Given the description of an element on the screen output the (x, y) to click on. 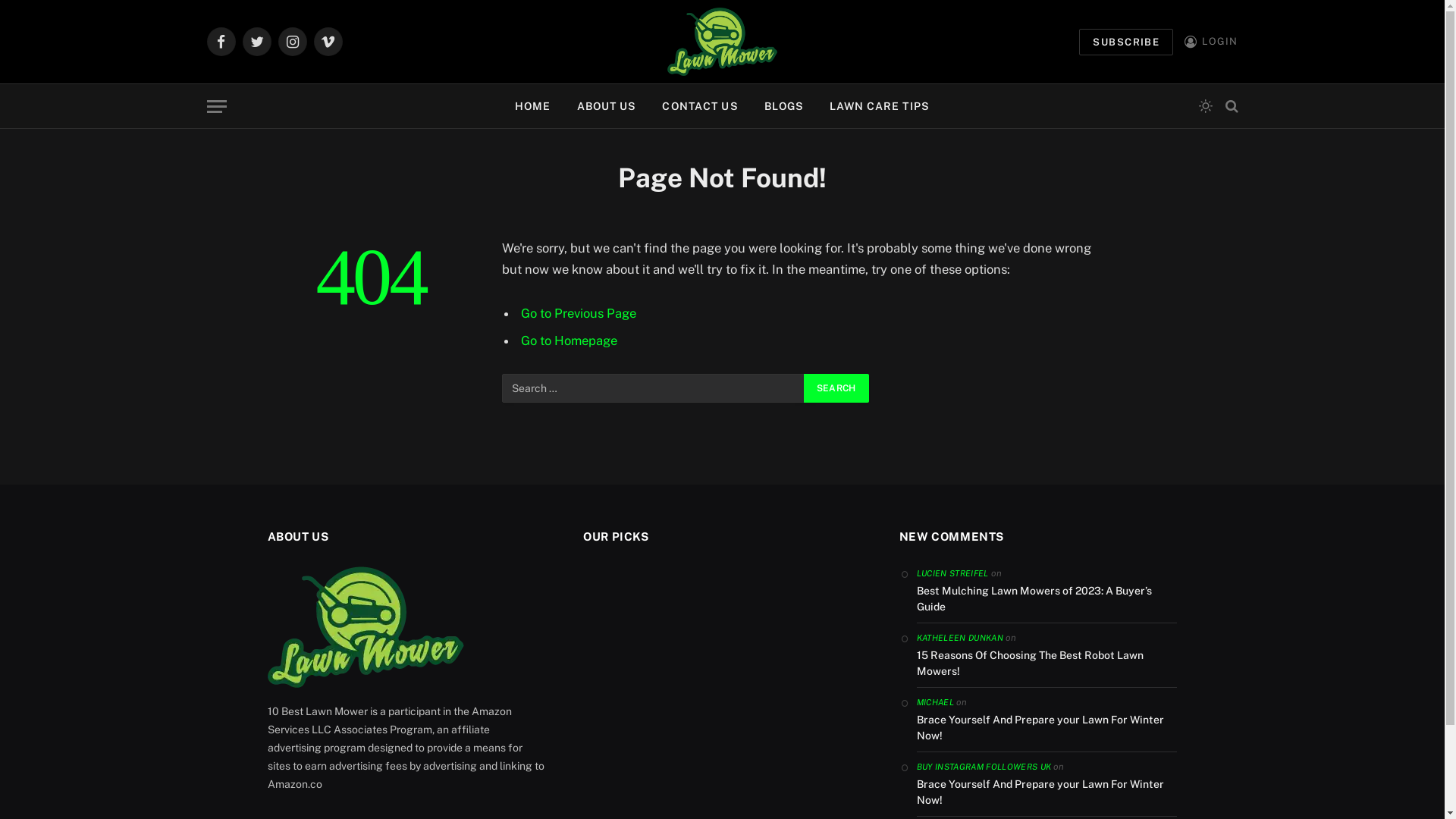
Vimeo Element type: text (327, 41)
KATHELEEN DUNKAN Element type: text (959, 637)
Brace Yourself And Prepare your Lawn For Winter Now! Element type: text (1046, 792)
Search Element type: text (836, 387)
ABOUT US Element type: text (606, 106)
LOGIN Element type: text (1210, 41)
CONTACT US Element type: text (699, 106)
Go to Previous Page Element type: text (578, 312)
LUCIEN STREIFEL Element type: text (952, 572)
Instagram Element type: text (291, 41)
Search Element type: hover (1230, 106)
BUY INSTAGRAM FOLLOWERS UK Element type: text (983, 766)
Go to Homepage Element type: text (568, 339)
Facebook Element type: text (220, 41)
MICHAEL Element type: text (934, 701)
HOME Element type: text (532, 106)
Brace Yourself And Prepare your Lawn For Winter Now! Element type: text (1046, 727)
Twitter Element type: text (256, 41)
BLOGS Element type: text (784, 106)
Switch to Light Design. Element type: hover (1204, 105)
LAWN CARE TIPS Element type: text (879, 106)
15 Reasons Of Choosing The Best Robot Lawn Mowers! Element type: text (1046, 663)
Best Lawn Mowers Element type: hover (721, 41)
SUBSCRIBE Element type: text (1126, 41)
